Given the description of an element on the screen output the (x, y) to click on. 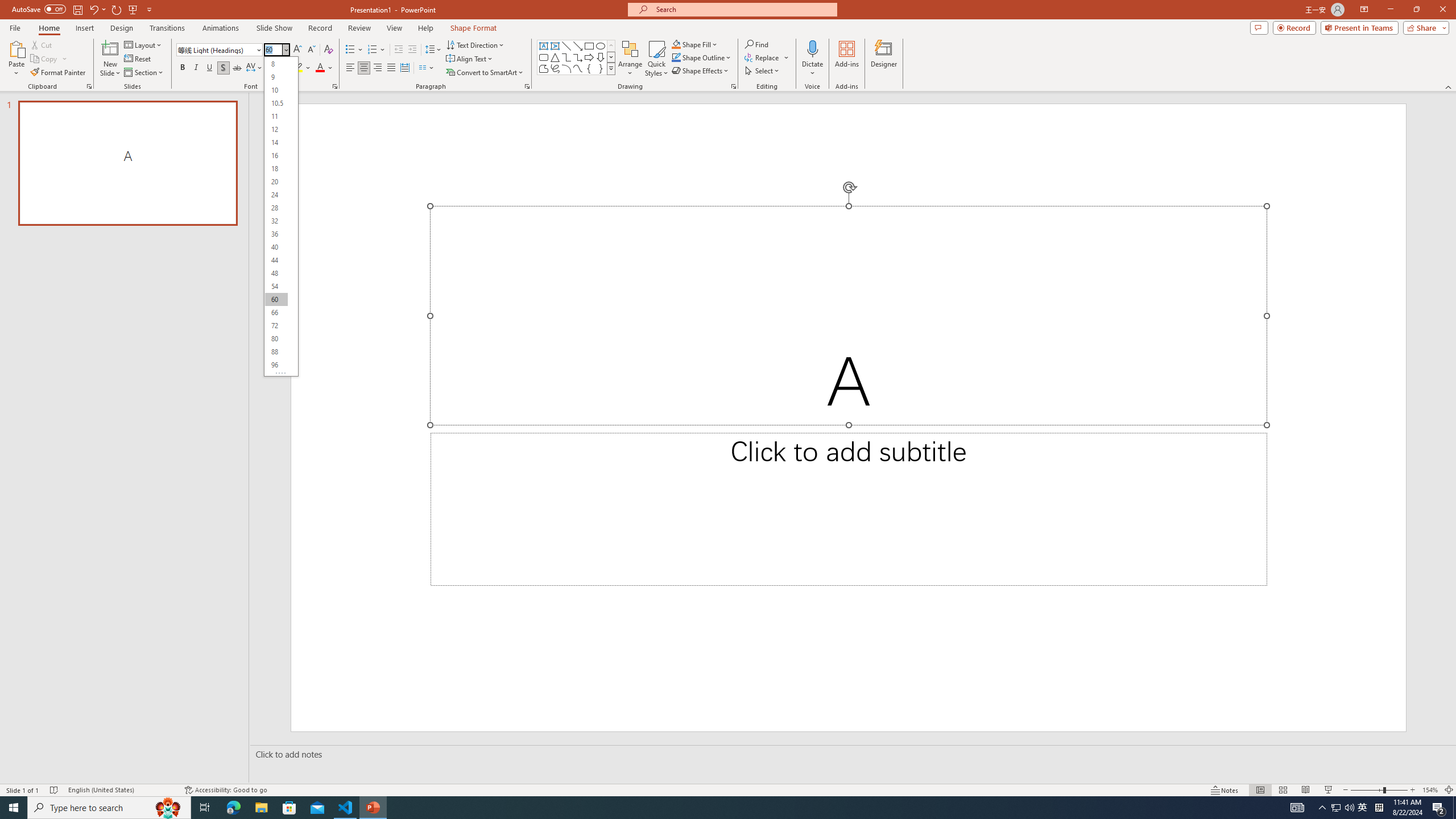
16 (276, 155)
32 (276, 220)
14 (276, 142)
